Given the description of an element on the screen output the (x, y) to click on. 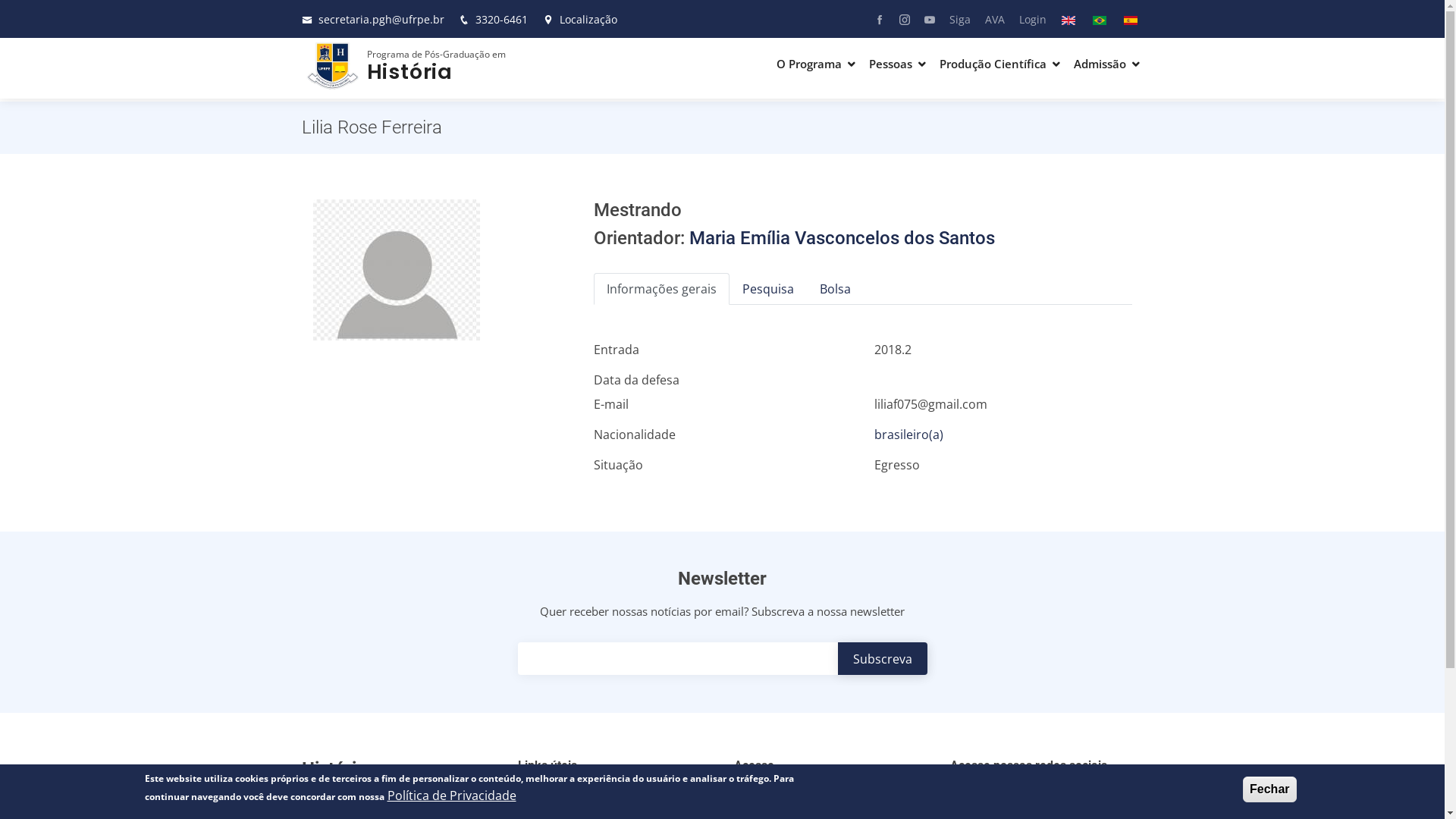
O Programa Element type: text (815, 64)
Pessoas Element type: text (897, 64)
brasileiro(a) Element type: text (907, 434)
secretaria.pgh@ufrpe.br Element type: text (381, 19)
AVA Element type: text (988, 18)
Siga Element type: text (953, 18)
Login Element type: text (1026, 18)
Pesquisa Element type: text (767, 288)
UFRPE Element type: text (548, 794)
Portuguese, Brazil Element type: hover (1098, 20)
3320-6461 Element type: text (500, 19)
Teses Element type: text (833, 795)
Subscreva Element type: text (881, 658)
Bolsa Element type: text (834, 288)
English Element type: hover (1068, 20)
Instagram Element type: hover (898, 18)
Fechar Element type: text (1268, 789)
Spanish Element type: hover (1130, 20)
Facebook Element type: hover (873, 18)
Youtube Element type: hover (924, 18)
